Given the description of an element on the screen output the (x, y) to click on. 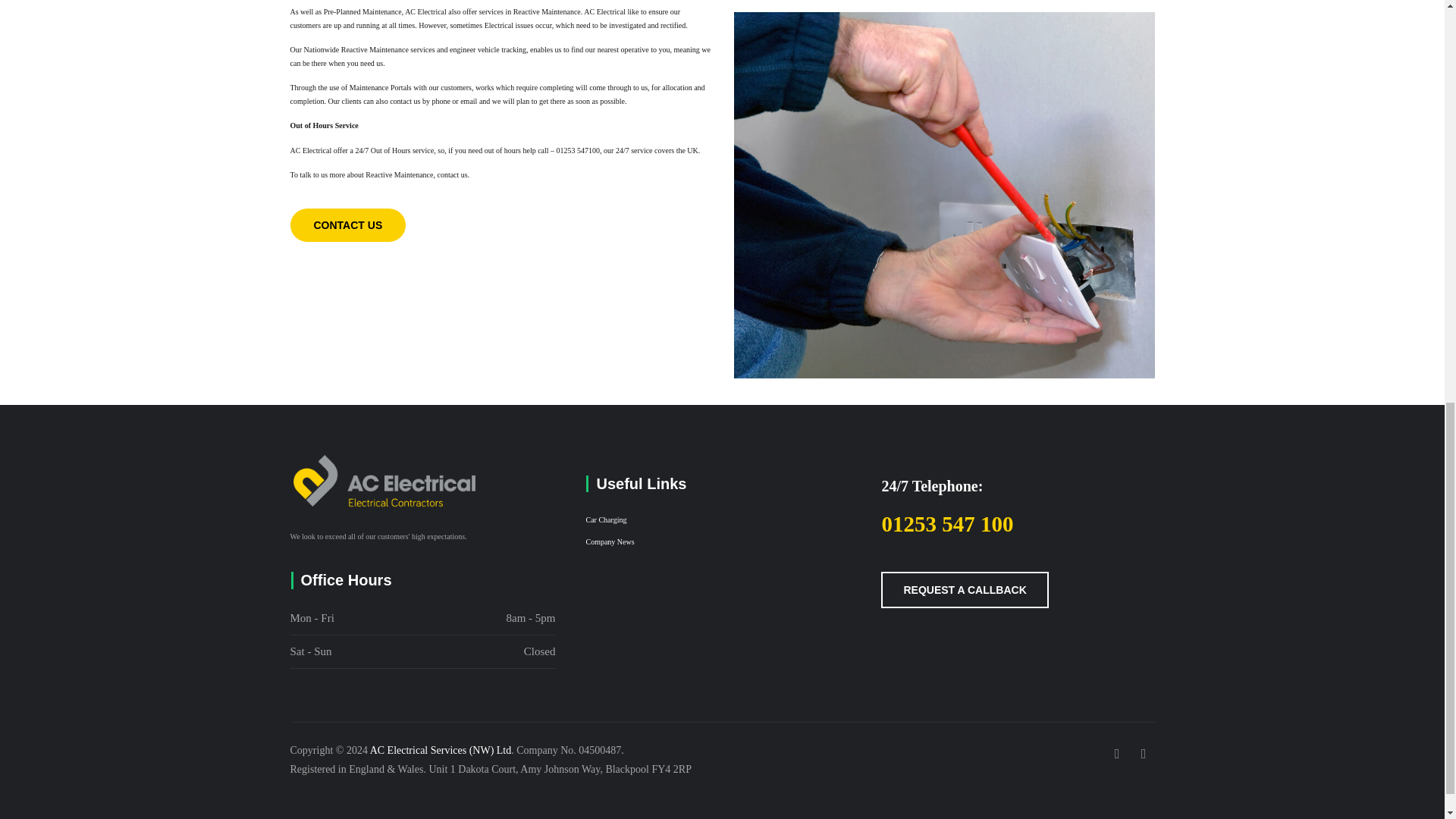
Car Charging (605, 520)
Company News (609, 541)
CONTACT US (347, 224)
Contact Us (347, 224)
REQUEST A CALLBACK (964, 589)
Contact Us (964, 589)
